Given the description of an element on the screen output the (x, y) to click on. 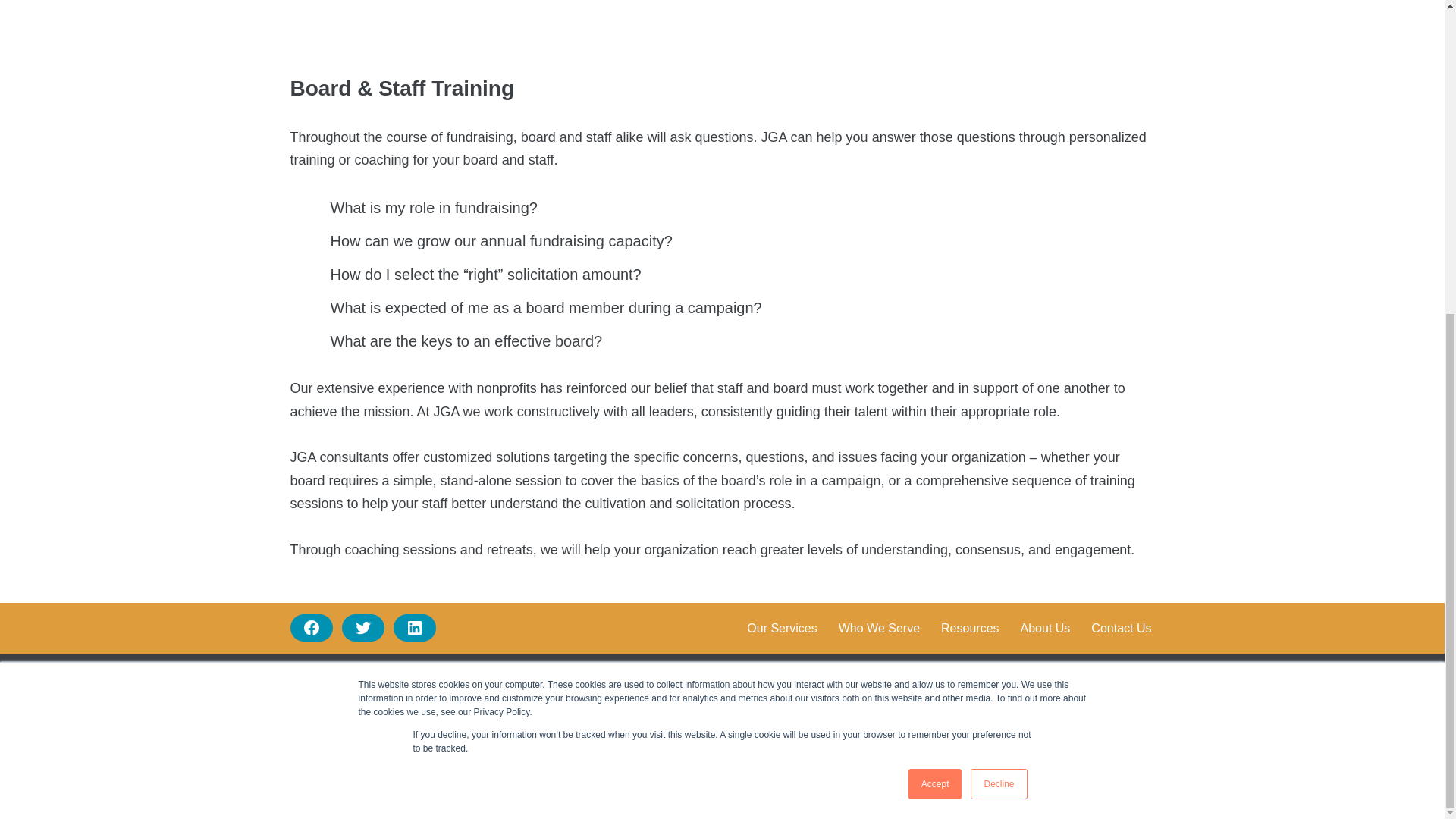
Decline (998, 281)
Accept (935, 281)
